Given the description of an element on the screen output the (x, y) to click on. 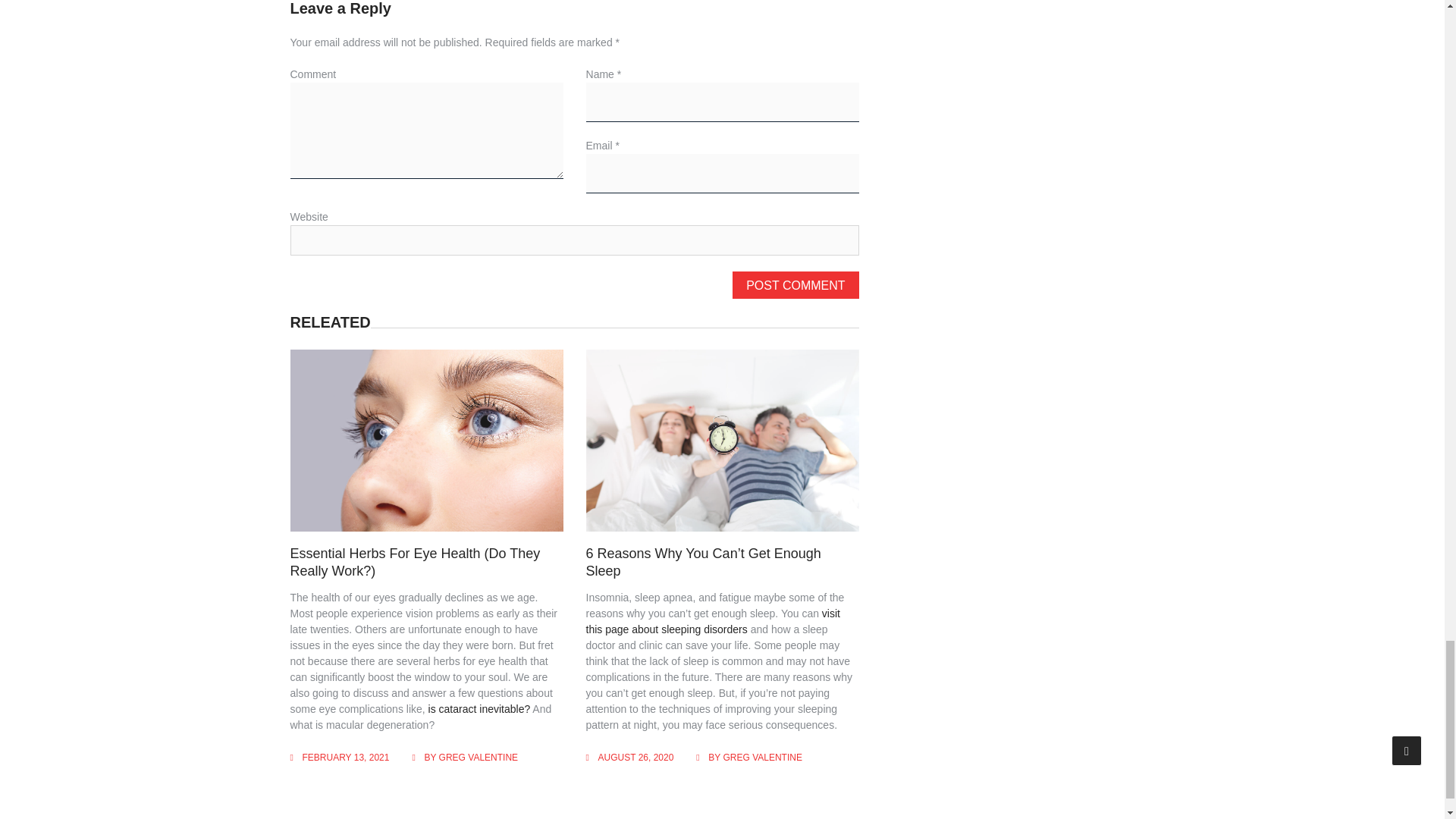
FEBRUARY 13, 2021 (344, 757)
AUGUST 26, 2020 (636, 757)
Post Comment (795, 284)
Post Comment (795, 284)
visit this page about sleeping disorders (713, 621)
GREG VALENTINE (478, 757)
is cataract inevitable? (479, 708)
GREG VALENTINE (762, 757)
